Given the description of an element on the screen output the (x, y) to click on. 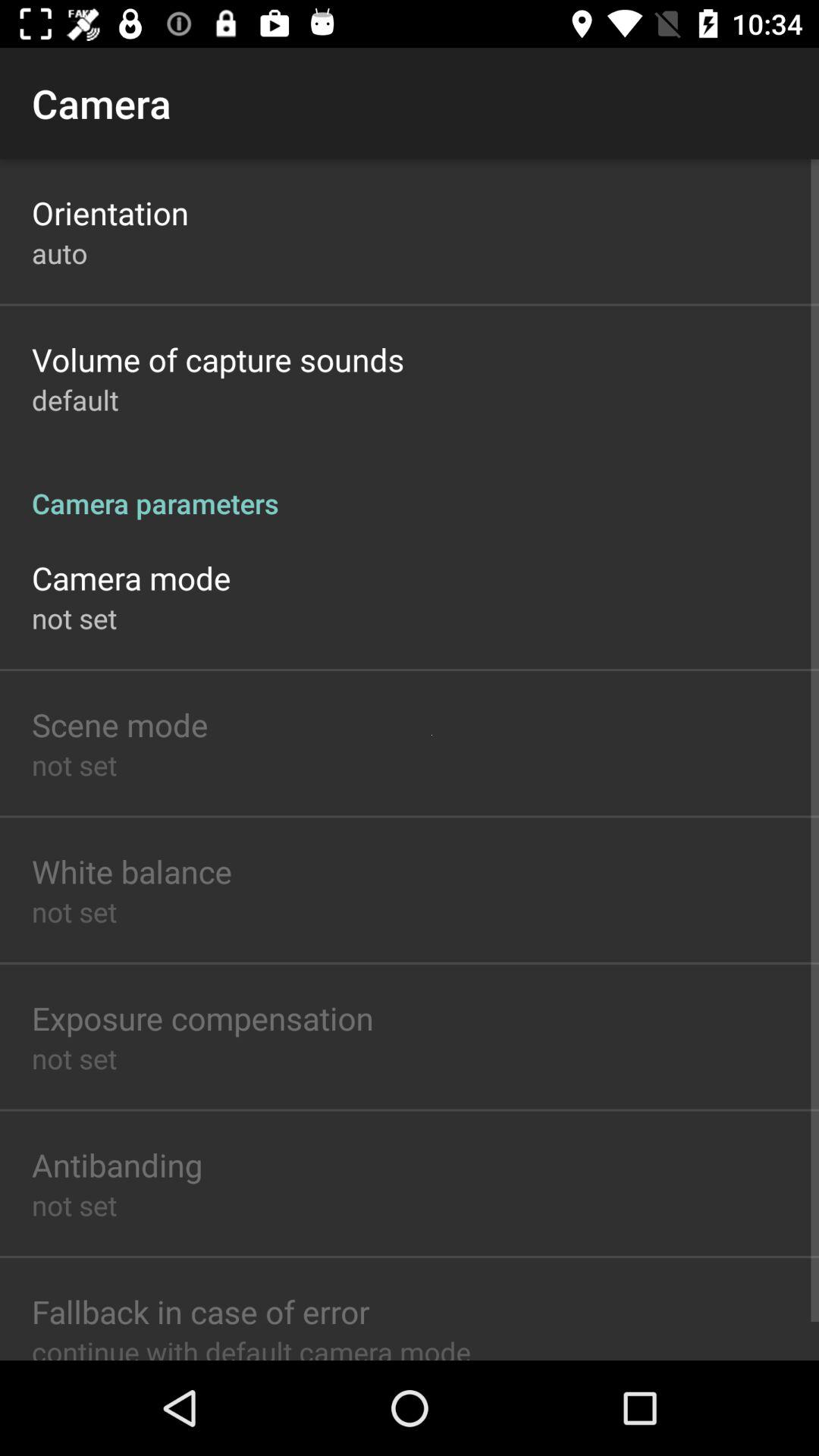
jump to the camera parameters icon (409, 487)
